Given the description of an element on the screen output the (x, y) to click on. 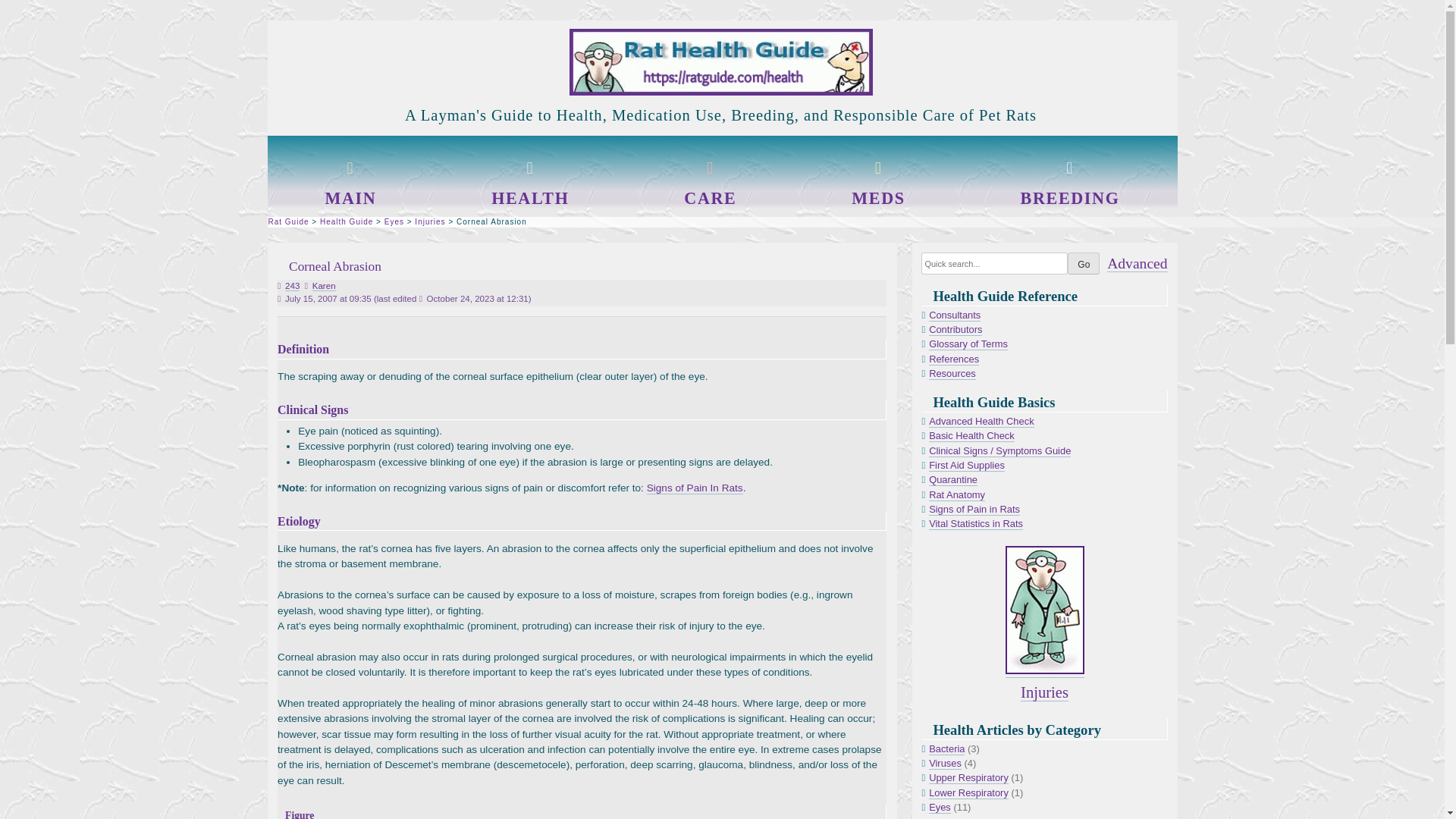
Resources (951, 373)
Go to the Eyes category archives. (394, 221)
243 (292, 286)
MEDS (877, 198)
Health Guide (346, 221)
Eyes (394, 221)
Glossary of Terms (967, 344)
Karen (324, 286)
Go (1083, 263)
Vital Statistics in Rats (975, 523)
17 years ago (328, 298)
MAIN (350, 198)
Signs of Pain in Rats (974, 509)
Quarantine (952, 480)
